Given the description of an element on the screen output the (x, y) to click on. 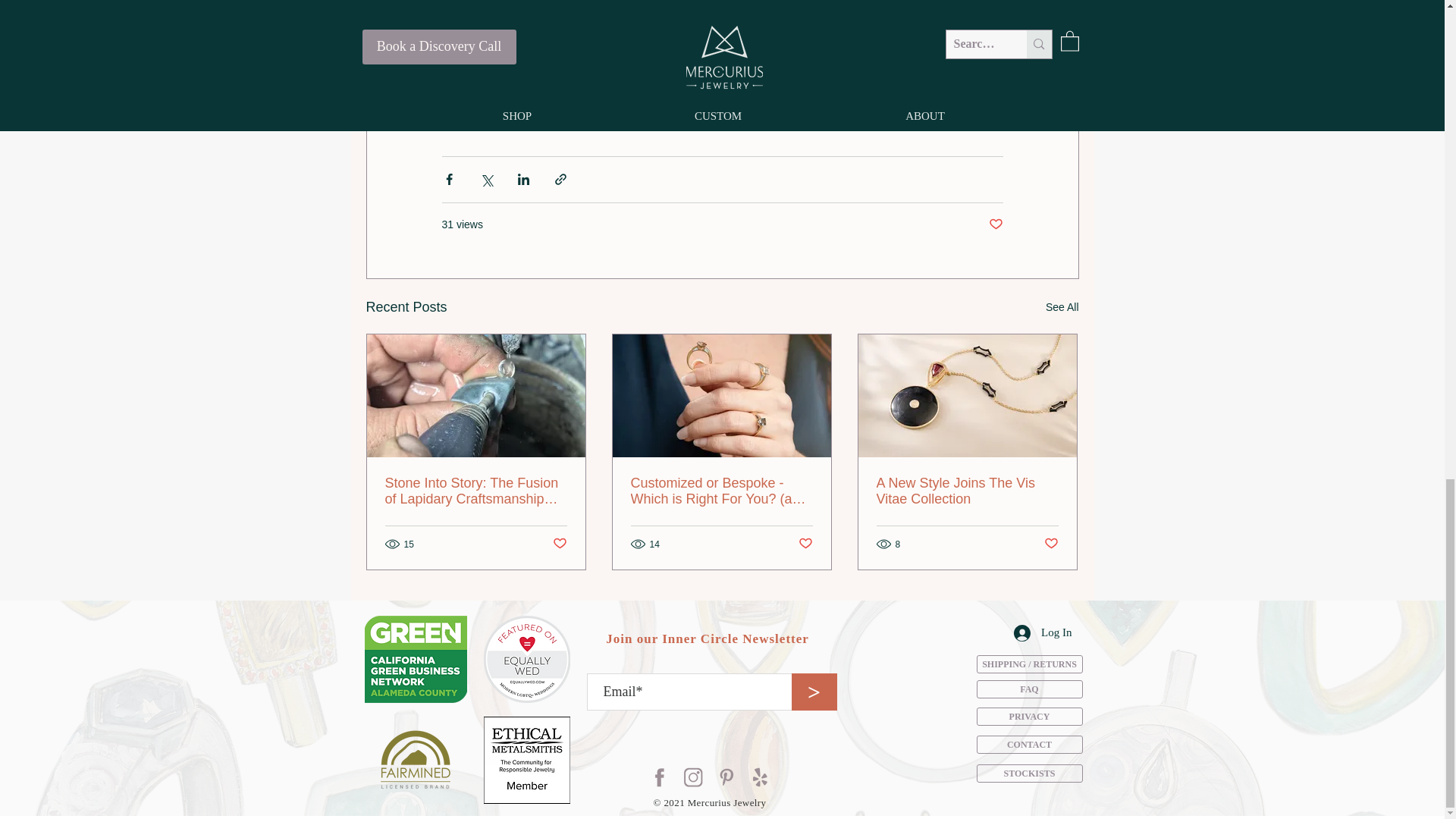
A New Style Joins The Vis Vitae Collection (967, 490)
See All (1061, 307)
Post not marked as liked (804, 544)
Post not marked as liked (995, 224)
Post not marked as liked (558, 544)
